Given the description of an element on the screen output the (x, y) to click on. 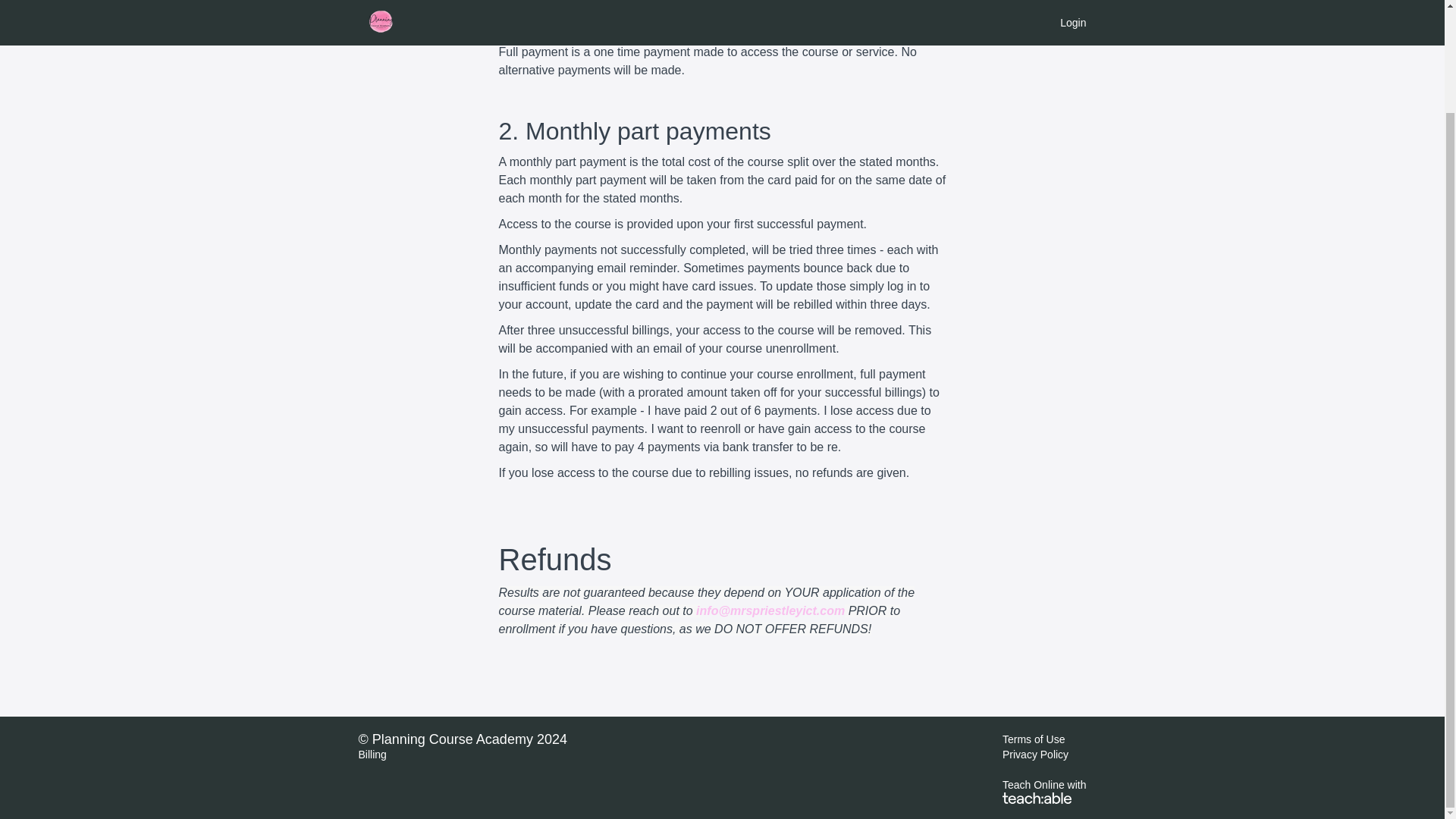
Teach Online with (1044, 790)
Terms of Use (1033, 739)
Billing (371, 754)
Privacy Policy (1035, 754)
